Given the description of an element on the screen output the (x, y) to click on. 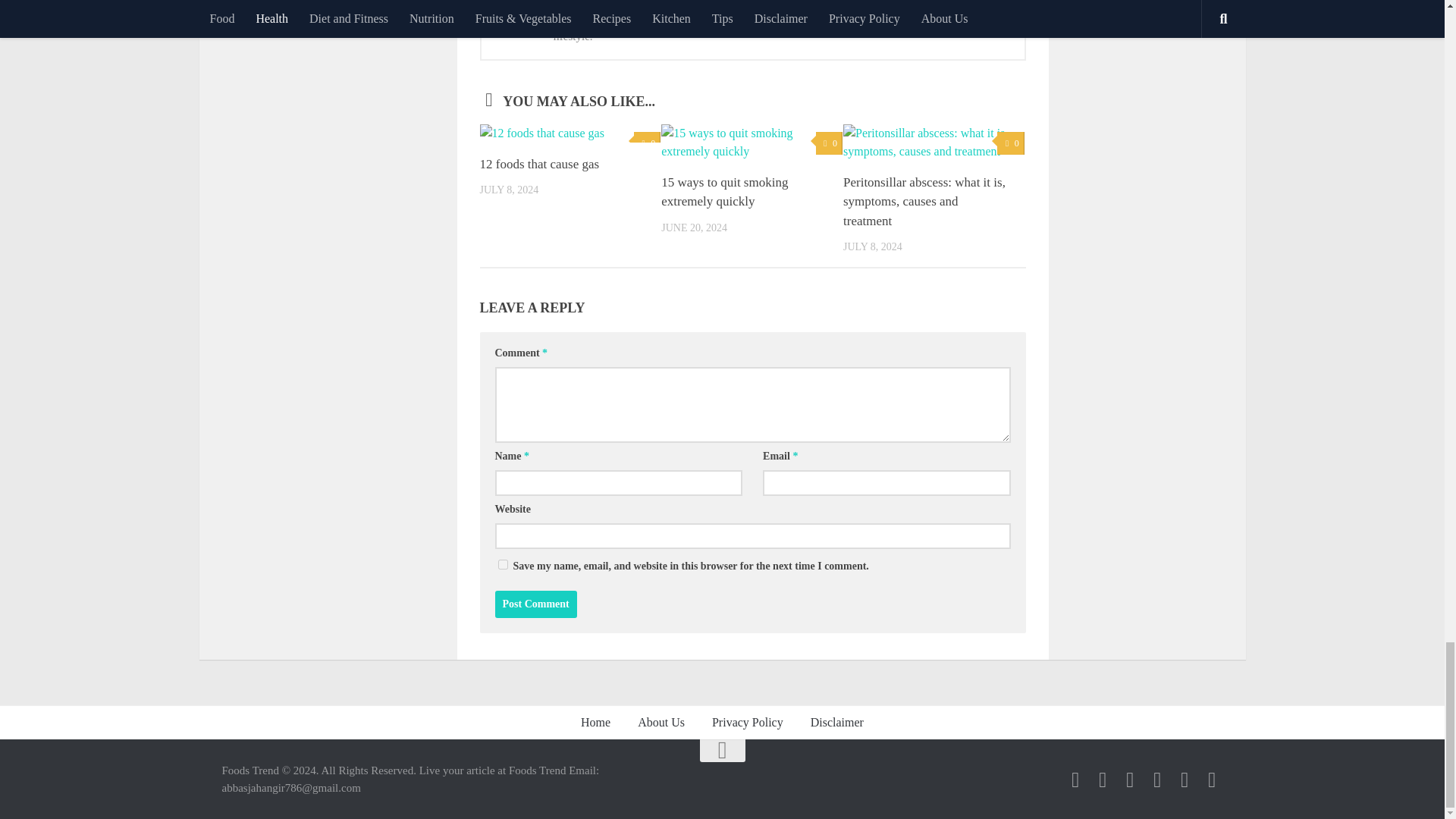
0 (647, 143)
12 foods that cause gas (538, 164)
Post Comment (535, 604)
yes (501, 564)
